Given the description of an element on the screen output the (x, y) to click on. 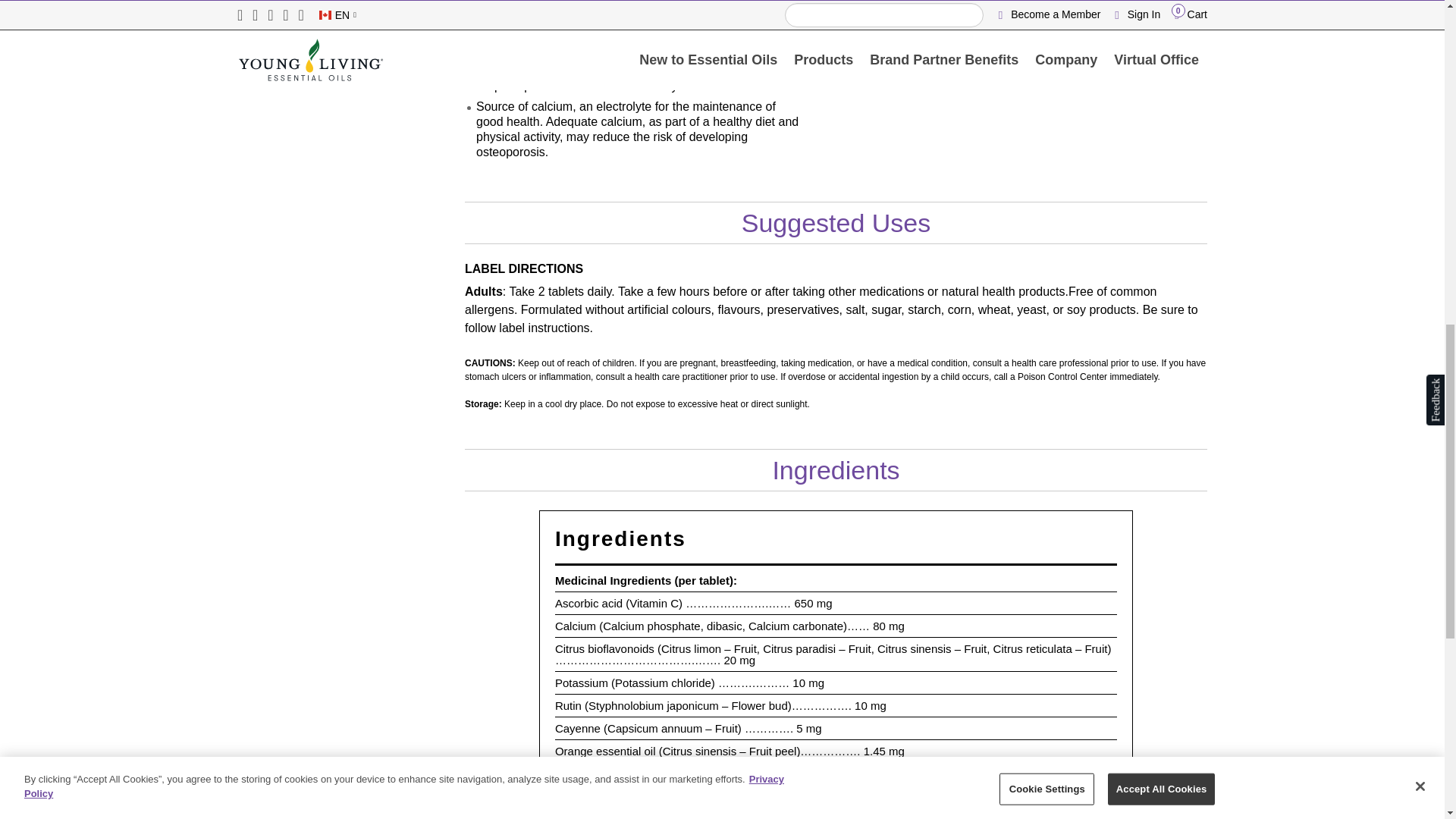
Click to popout into a new window (1155, 15)
Click to minimize (1139, 15)
